Given the description of an element on the screen output the (x, y) to click on. 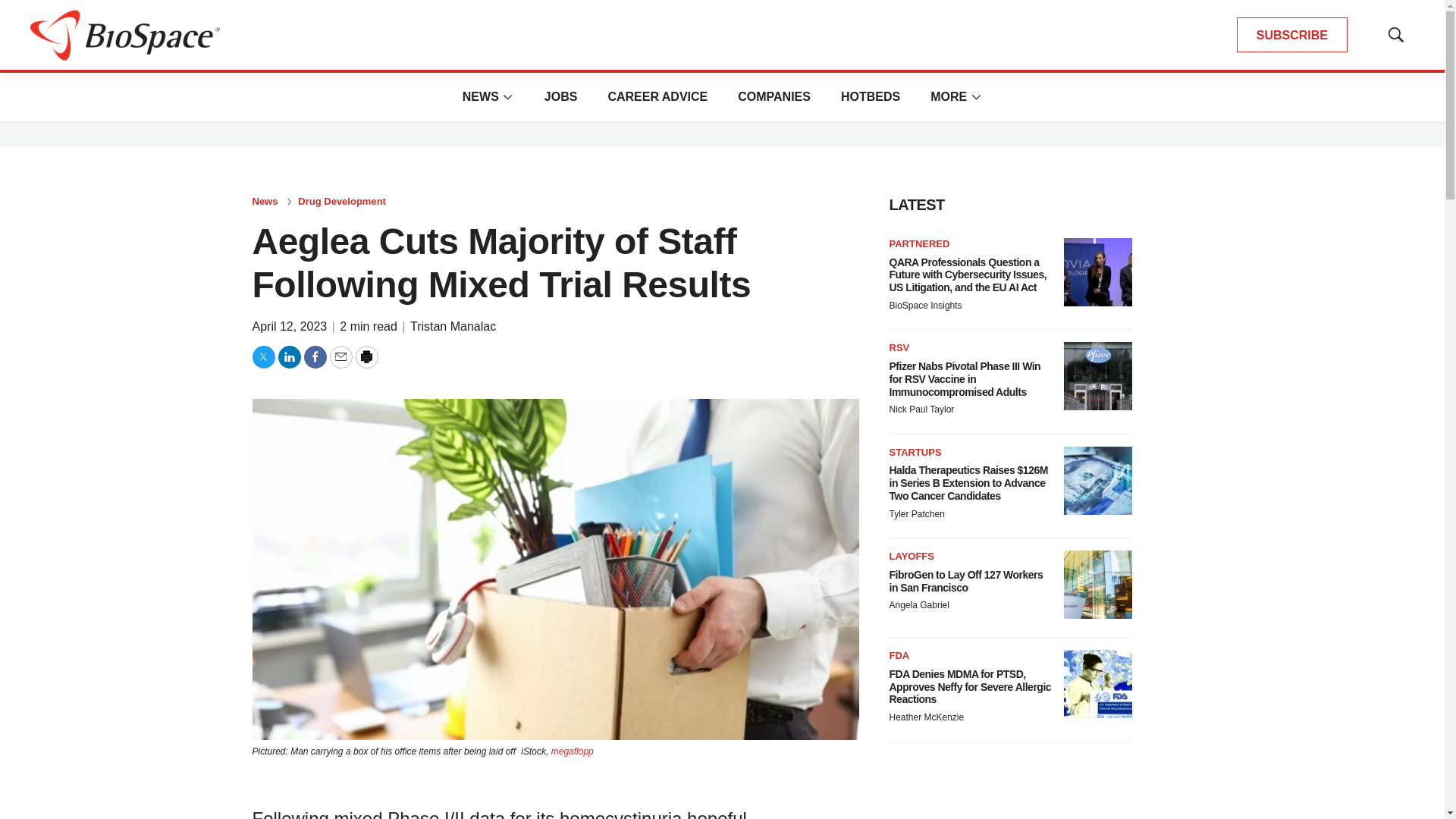
NEWS (481, 96)
SUBSCRIBE (1292, 34)
Show Search (1395, 34)
